Given the description of an element on the screen output the (x, y) to click on. 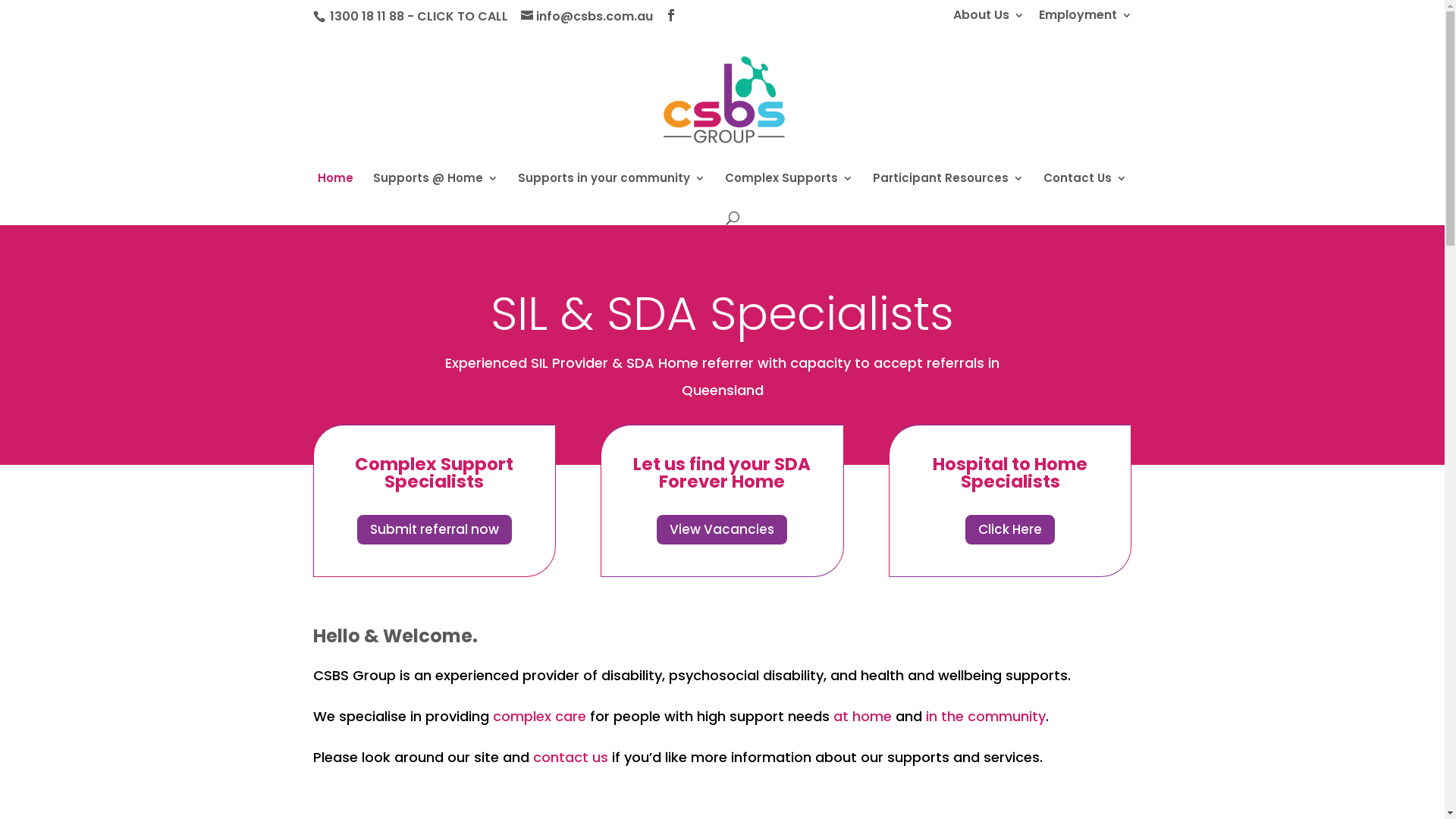
Home Element type: text (335, 189)
info@csbs.com.au Element type: text (586, 16)
Contact Us Element type: text (1084, 189)
Supports @ Home Element type: text (435, 189)
contact us Element type: text (569, 756)
Participant Resources Element type: text (947, 189)
About Us Element type: text (987, 19)
in the community Element type: text (984, 715)
complex care Element type: text (539, 715)
Complex Supports Element type: text (788, 189)
at home Element type: text (861, 715)
1300 18 11 88 - CLICK TO CALL Element type: text (418, 16)
View Vacancies Element type: text (721, 529)
Employment Element type: text (1085, 19)
Supports in your community Element type: text (611, 189)
Submit referral now Element type: text (434, 529)
Click Here Element type: text (1009, 529)
